Given the description of an element on the screen output the (x, y) to click on. 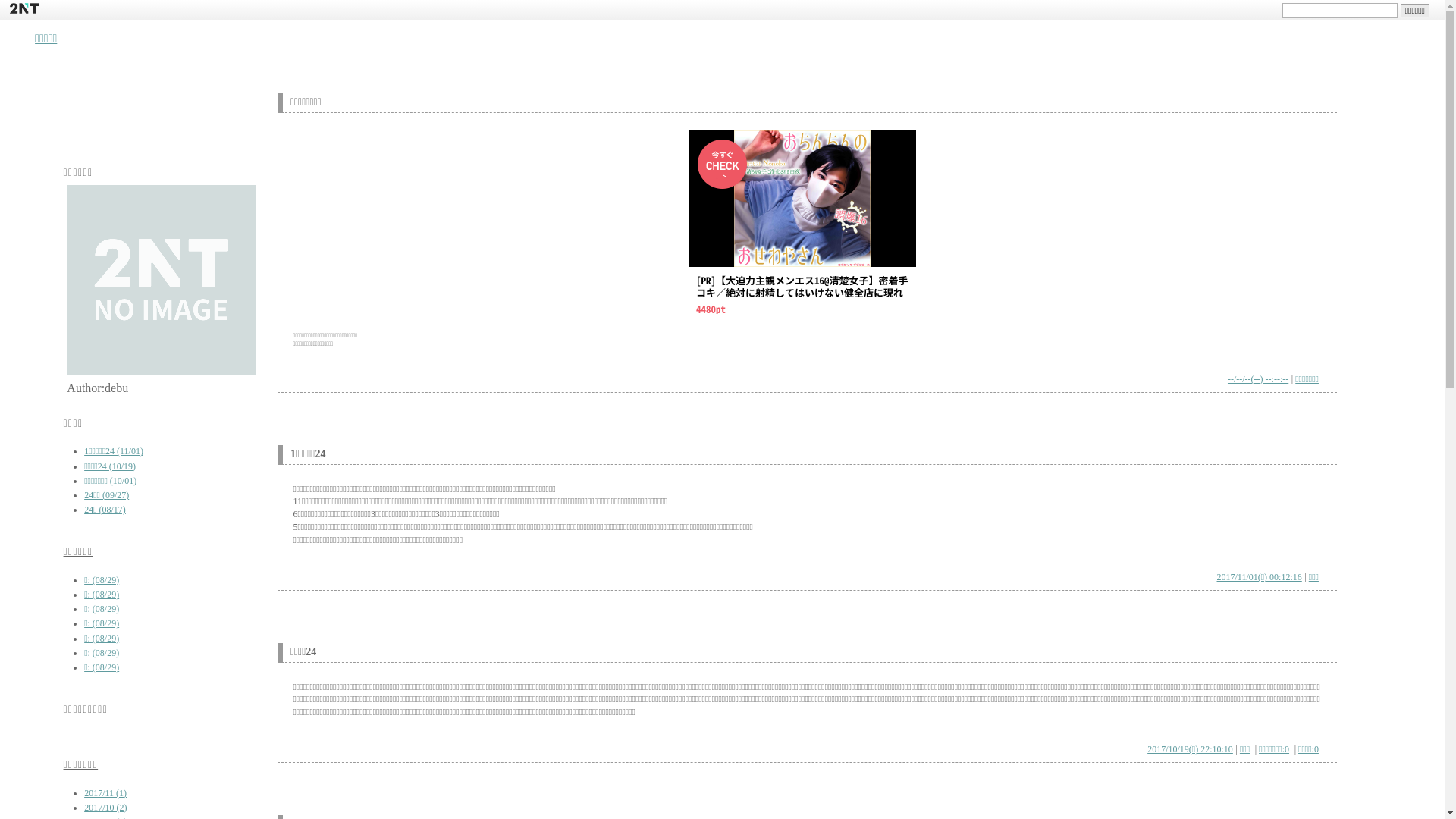
2017/11 (1) Element type: text (105, 792)
--/--/--(--) --:--:-- Element type: text (1257, 378)
2017/10 (2) Element type: text (105, 807)
